Given the description of an element on the screen output the (x, y) to click on. 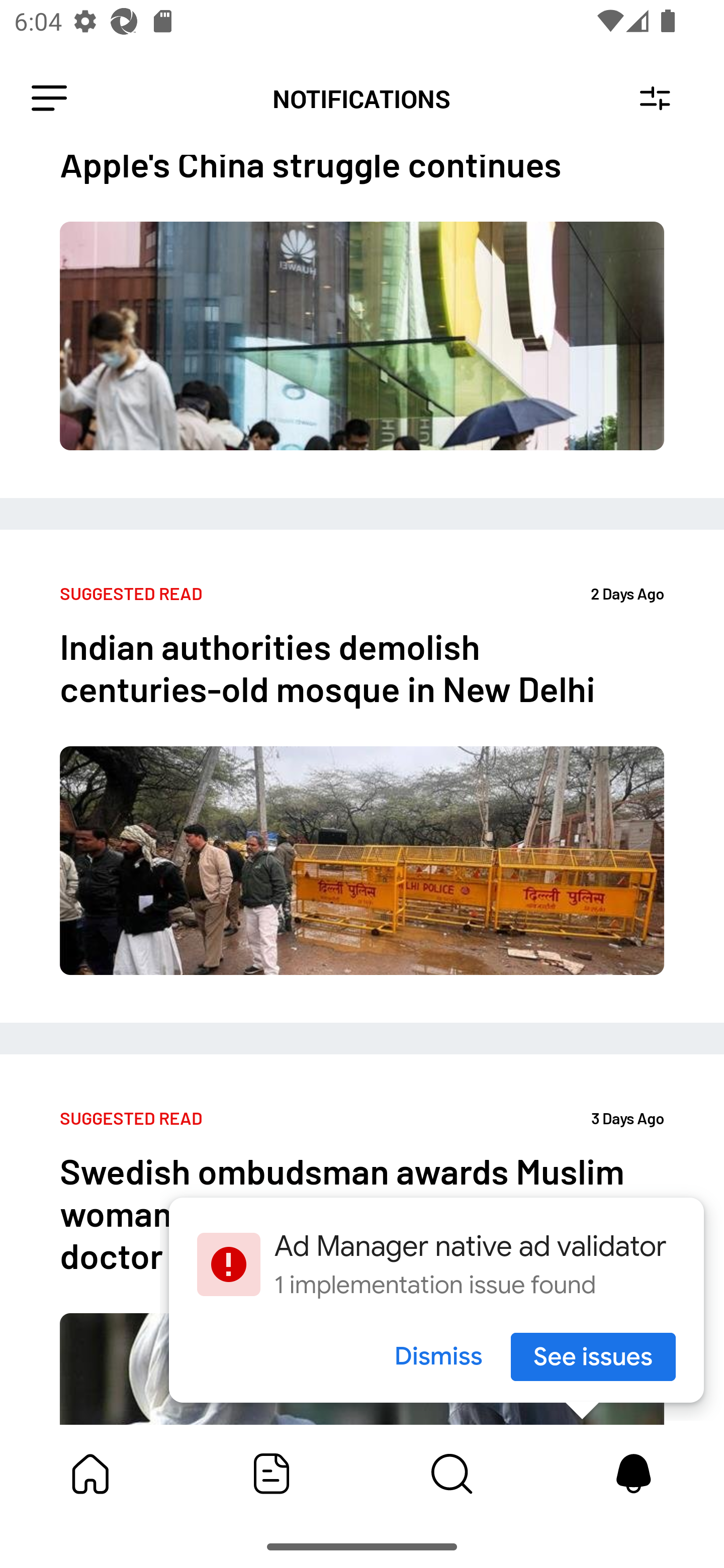
Leading Icon (49, 98)
Notification Settings (655, 98)
Apple's China struggle continues Image of the New (362, 326)
My Bundle (90, 1473)
Featured (271, 1473)
Content Store (452, 1473)
